Given the description of an element on the screen output the (x, y) to click on. 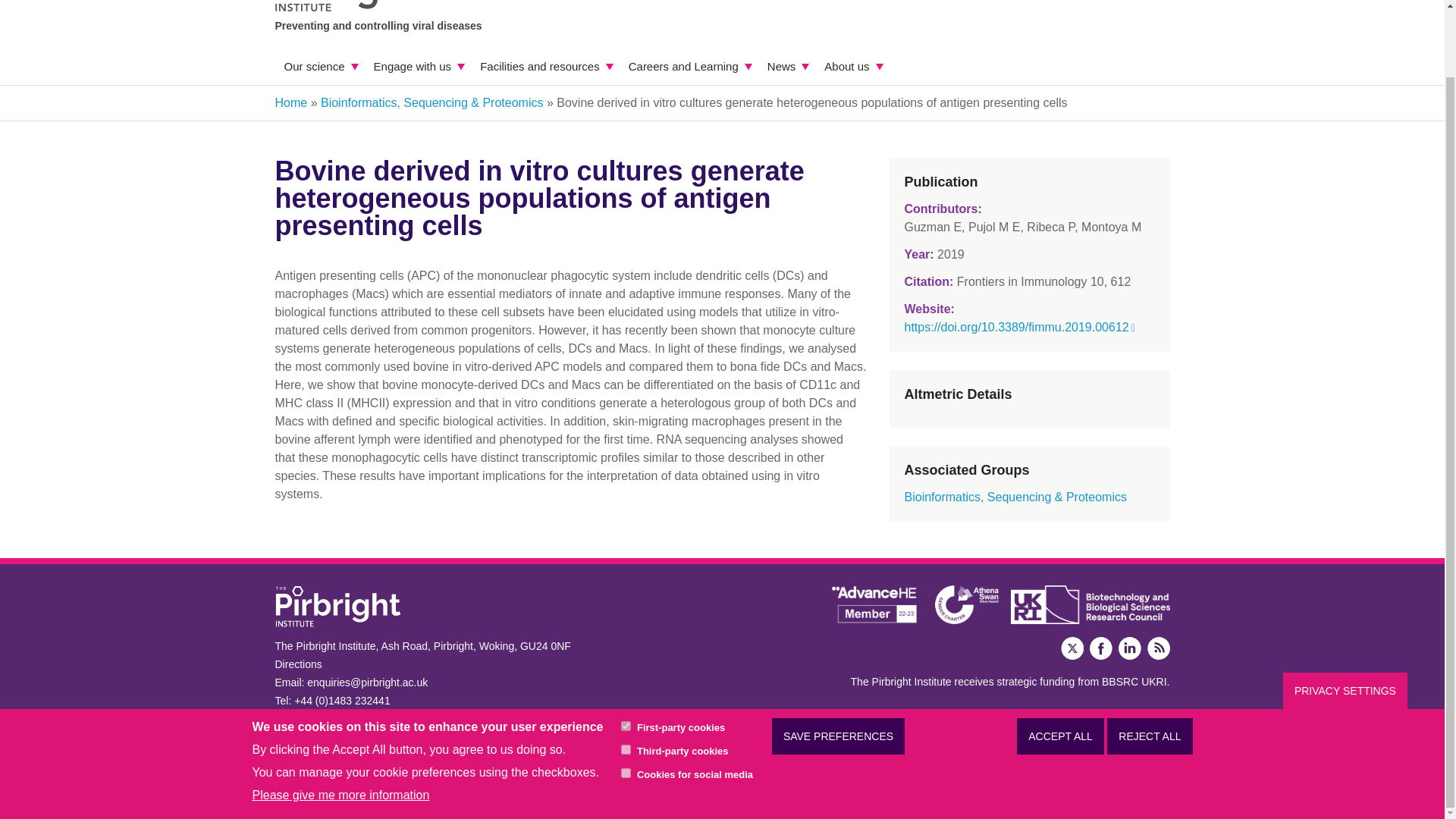
external (625, 675)
internal (625, 651)
social (625, 698)
